Given the description of an element on the screen output the (x, y) to click on. 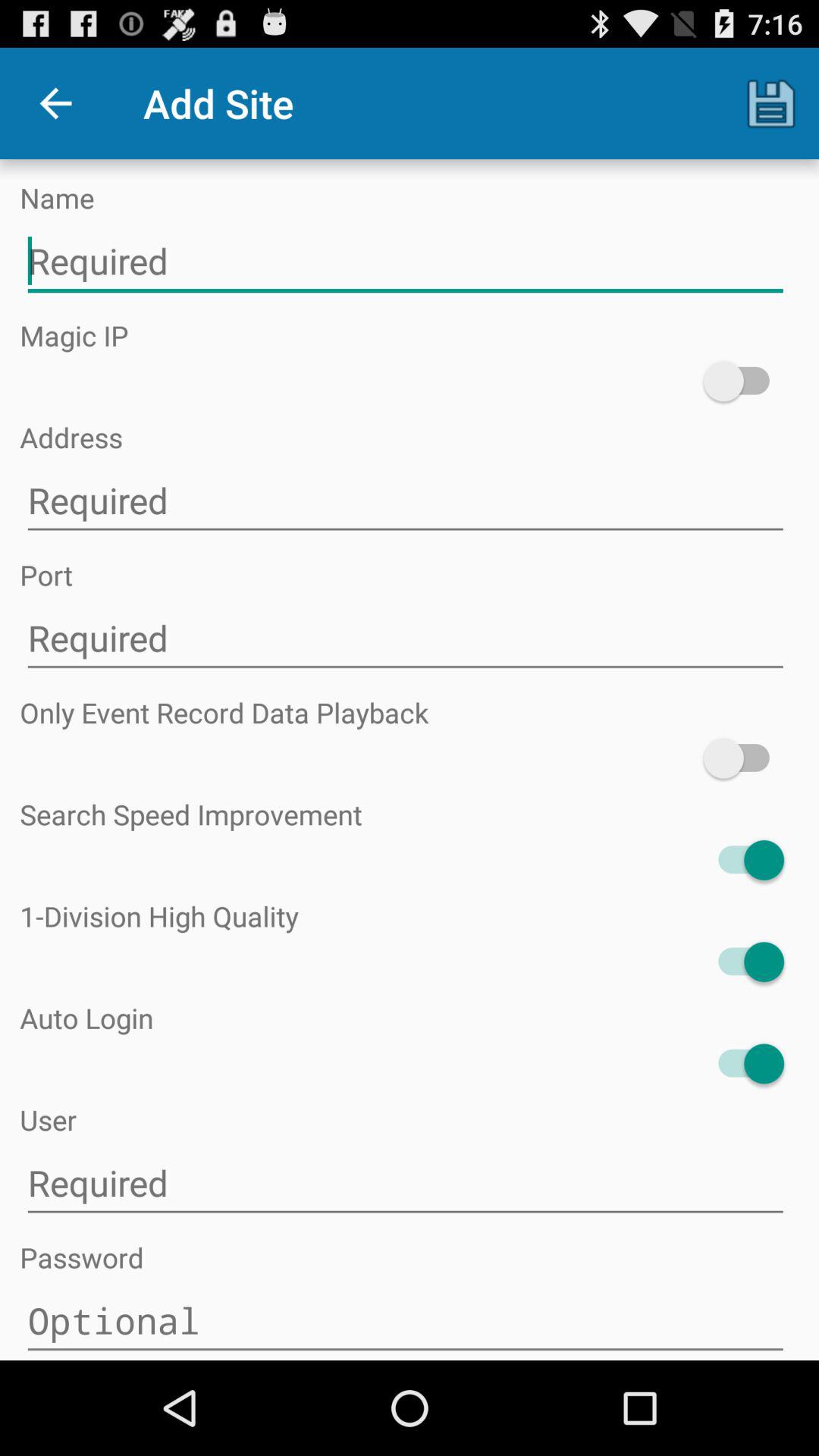
toggle auto login (743, 1063)
